Given the description of an element on the screen output the (x, y) to click on. 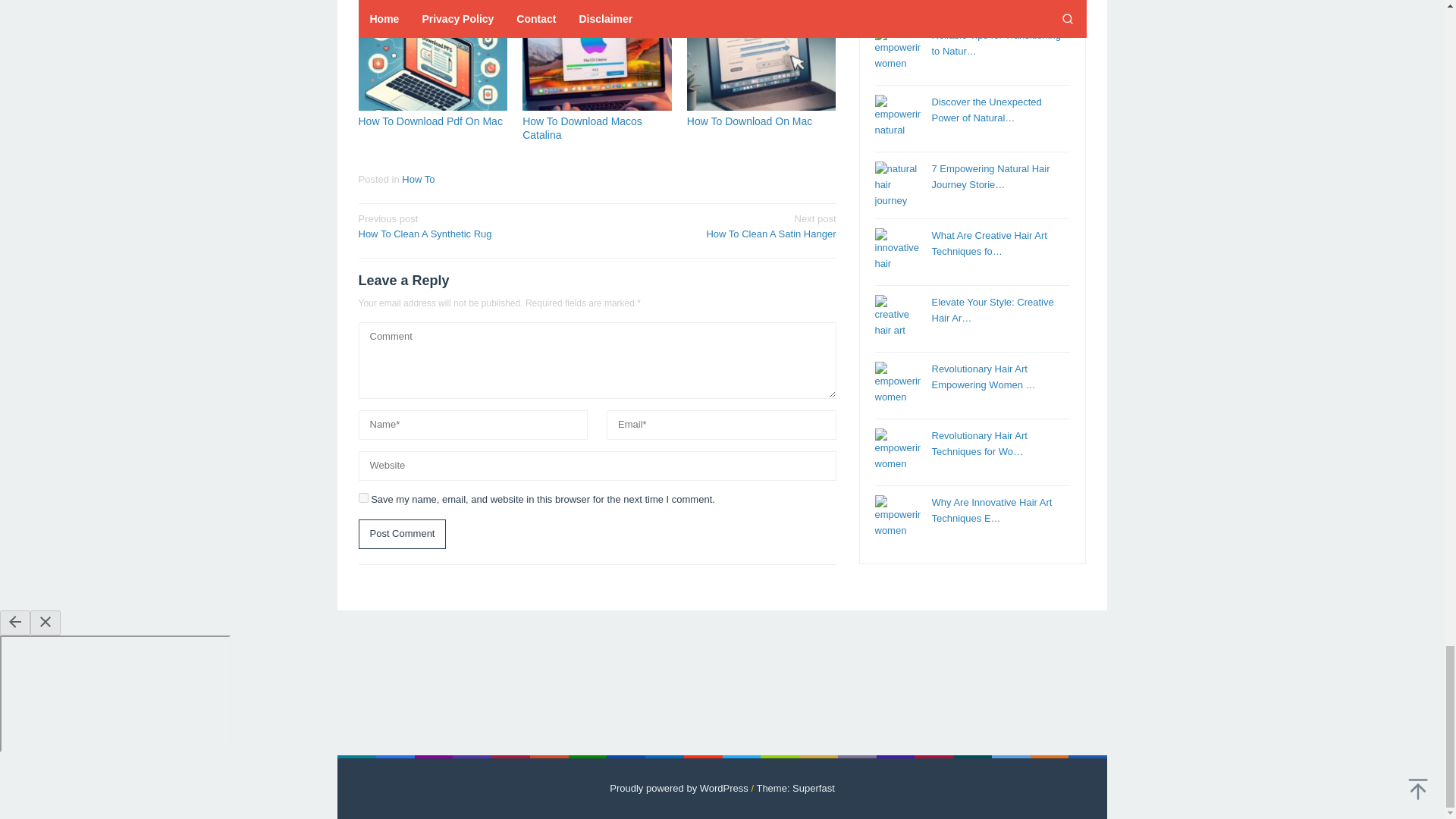
How To Download Pdf On Mac (430, 121)
Post Comment (401, 533)
Permalink to: How To Download Pdf On Mac (721, 225)
Post Comment (432, 60)
How To Download Macos Catalina (401, 533)
How To (582, 127)
How To Download On Mac (417, 179)
yes (749, 121)
